Given the description of an element on the screen output the (x, y) to click on. 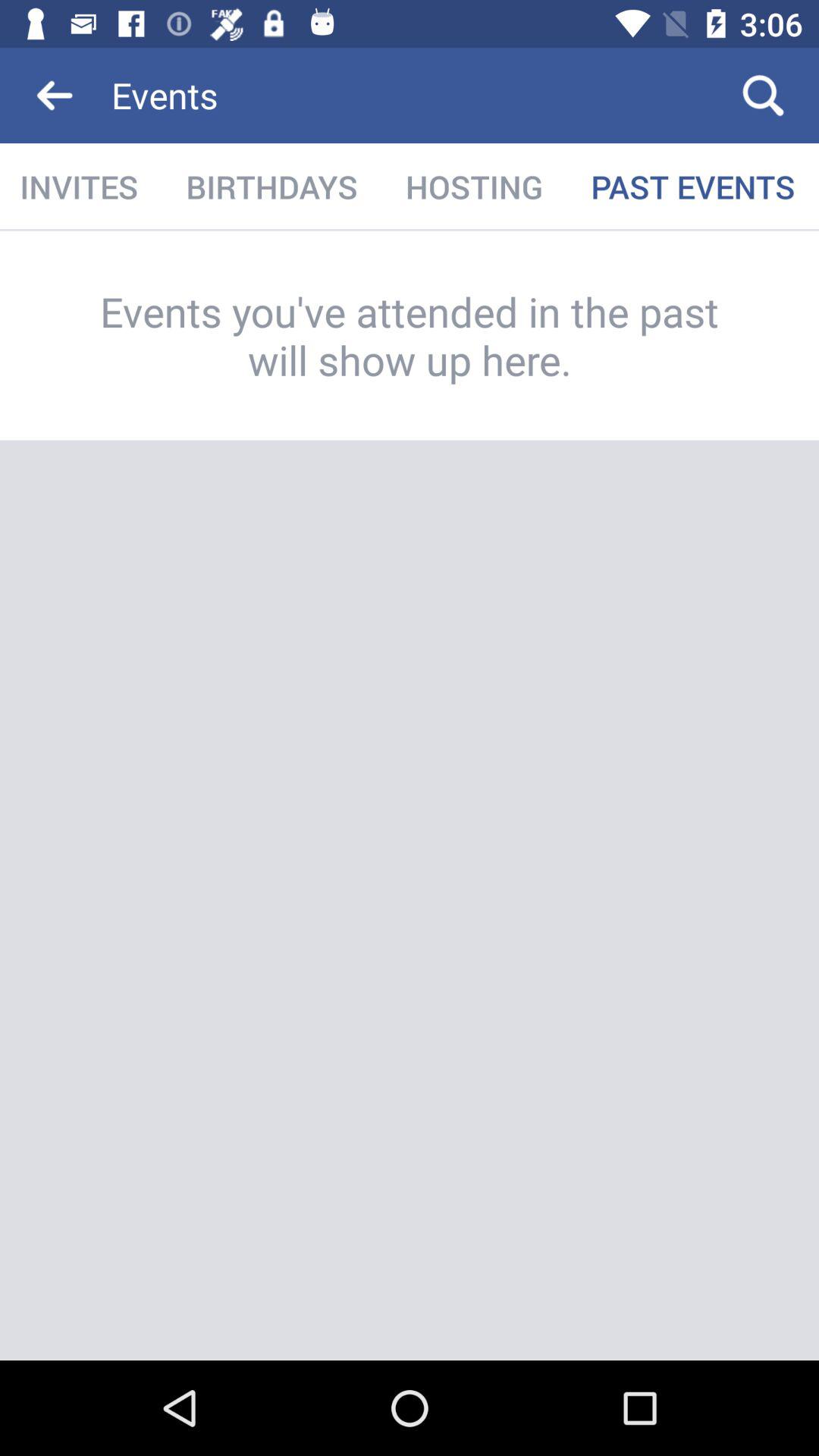
jump until the invites item (81, 186)
